Given the description of an element on the screen output the (x, y) to click on. 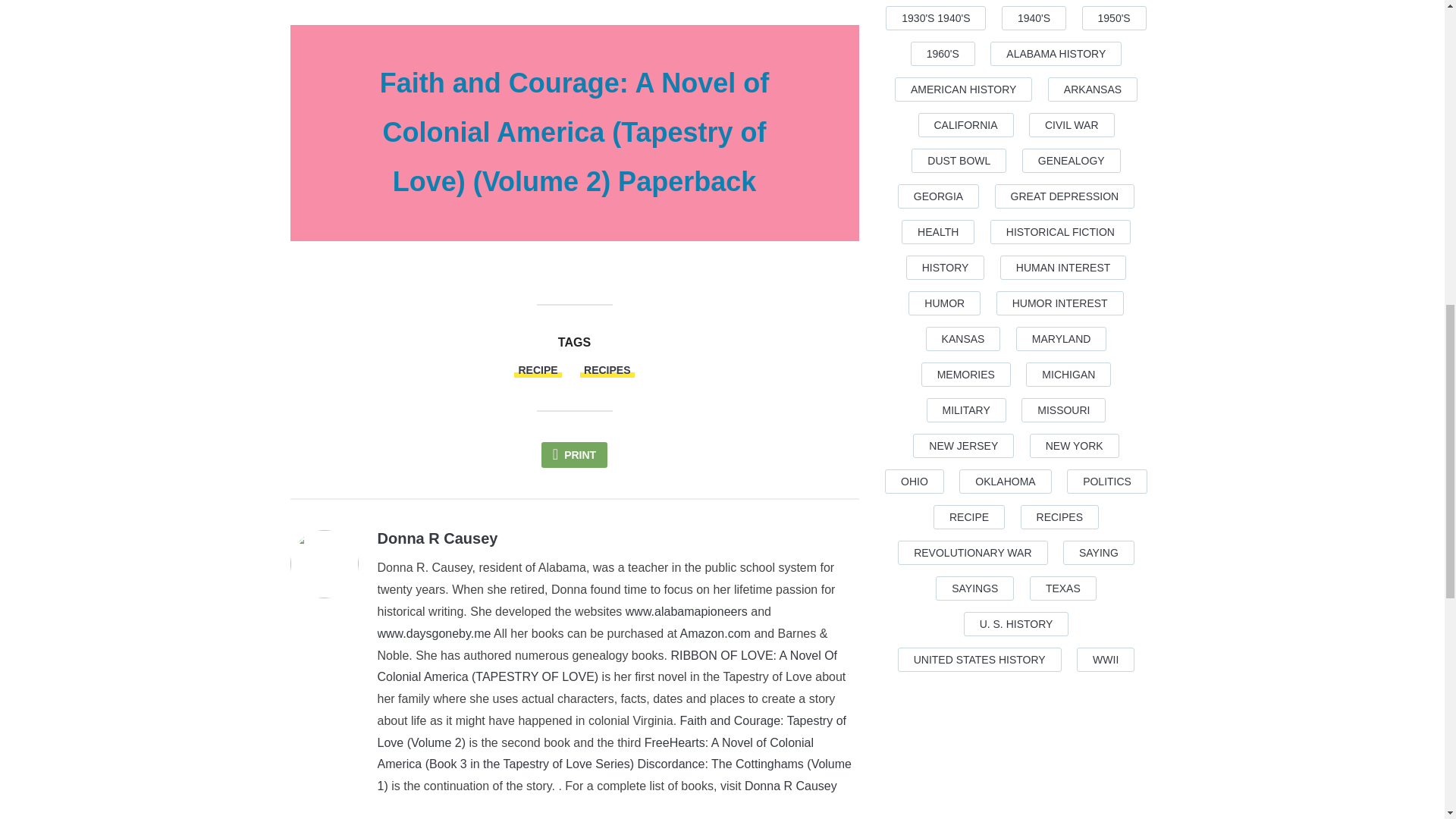
Posts by Donna R Causey (437, 538)
RECIPES (606, 369)
RECIPE (536, 369)
Donna R Causey (790, 785)
Amazon.com (715, 633)
www.daysgoneby.me (434, 633)
1940'S (1033, 17)
Print this Page (574, 454)
www.alabamapioneers (687, 611)
Donna R Causey (437, 538)
PRINT (574, 454)
1930'S 1940'S (935, 17)
